Given the description of an element on the screen output the (x, y) to click on. 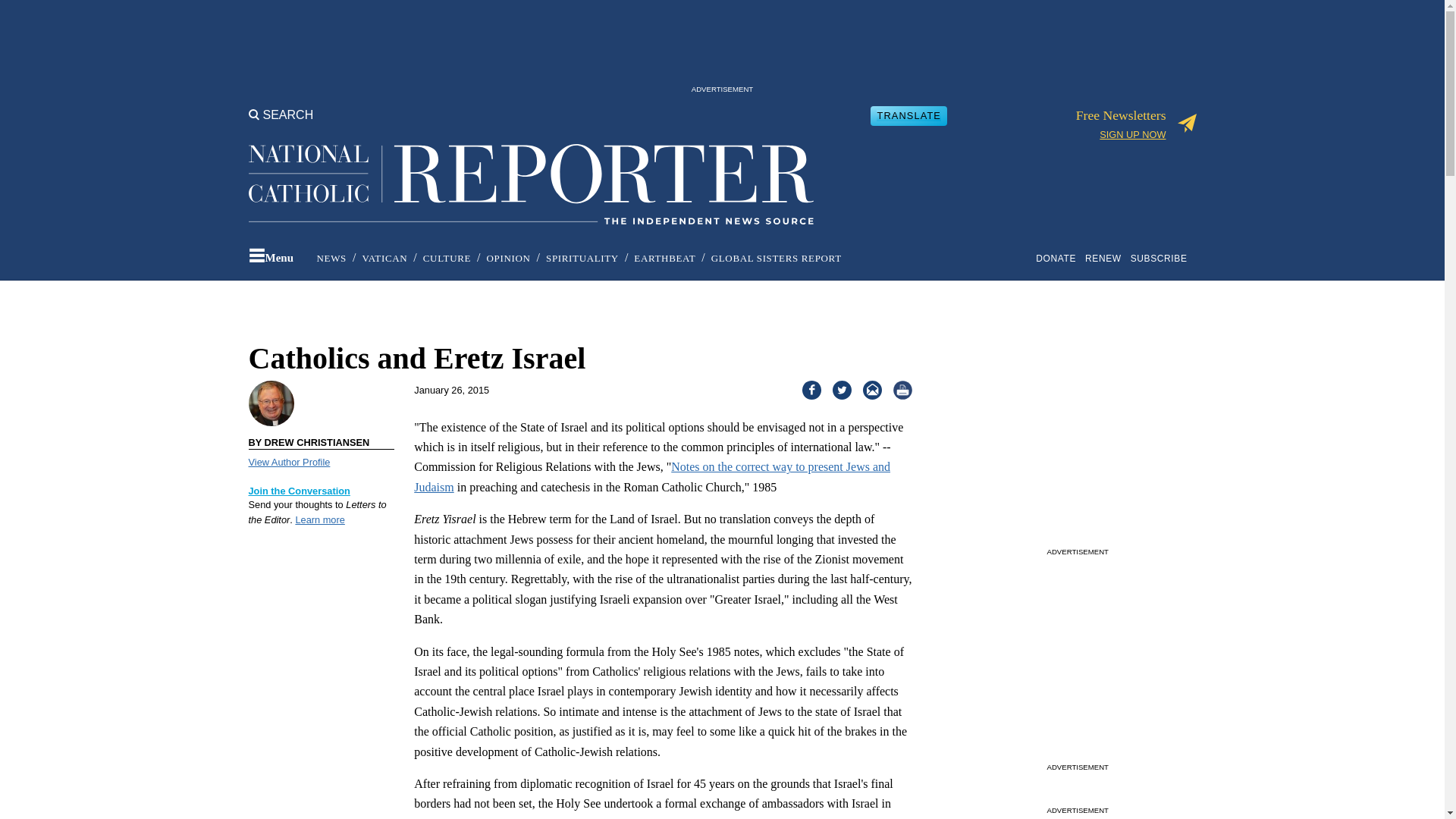
3rd party ad content (1077, 447)
EARTHBEAT (664, 257)
SUBSCRIBE (1162, 257)
Back to National Catholic Reporter homepage (530, 171)
RENEW (1105, 257)
GLOBAL SISTERS REPORT (776, 257)
OPINION (508, 257)
Send a letter to the editor (299, 490)
NEWS (331, 257)
3rd party ad content (1077, 663)
DONATE (1058, 257)
TRANSLATE (908, 115)
CULTURE (446, 257)
VATICAN (384, 257)
3rd party ad content (721, 46)
